Given the description of an element on the screen output the (x, y) to click on. 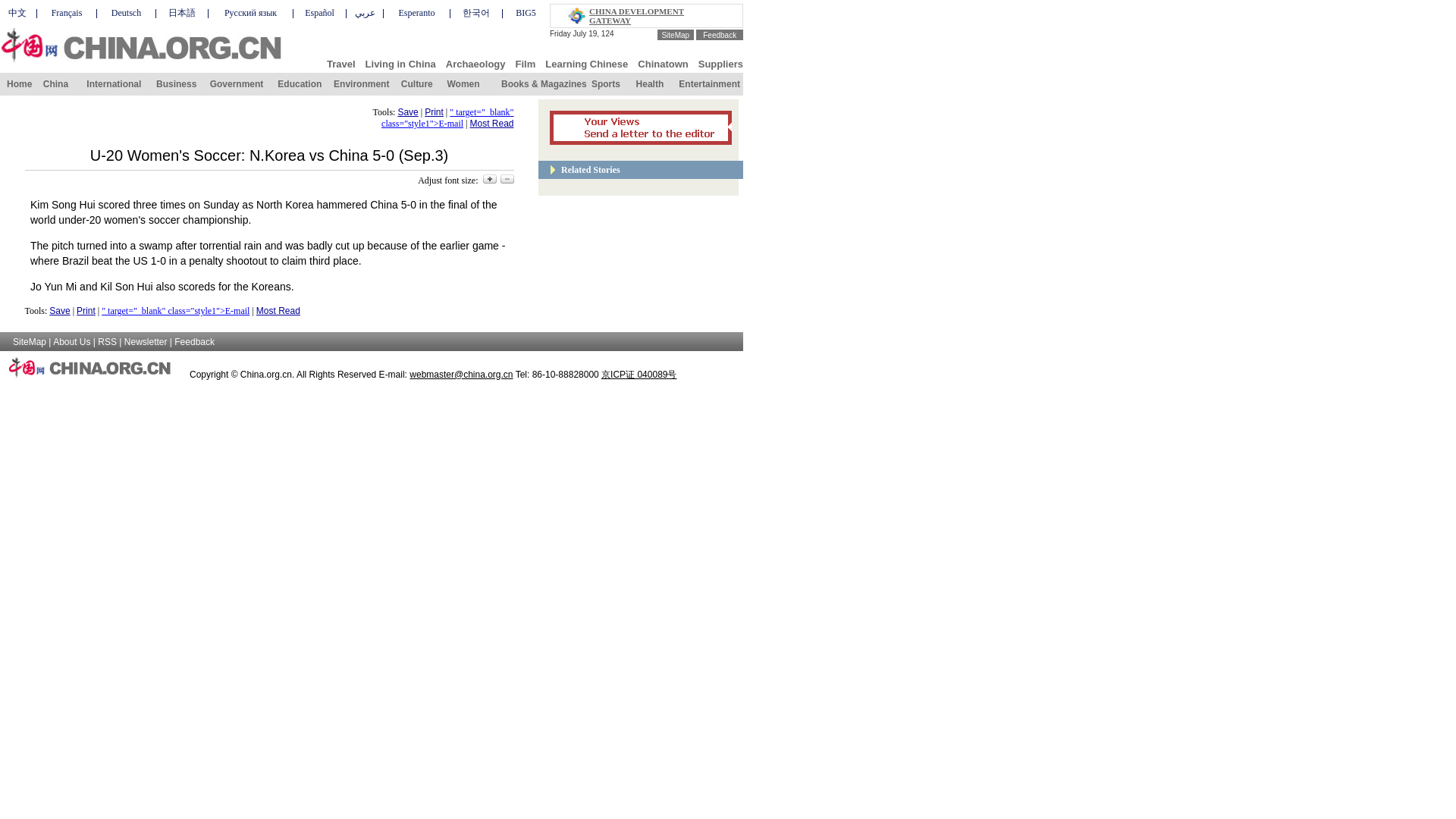
BIG5 (525, 12)
Most Read (490, 122)
Home (19, 83)
Save (59, 310)
Esperanto (416, 12)
Women (462, 83)
Suppliers (720, 62)
Film (525, 62)
Education (299, 83)
Environment (360, 83)
Deutsch (126, 12)
Business (175, 83)
Chinatown (662, 62)
Save (407, 112)
CHINA DEVELOPMENT GATEWAY (636, 15)
